Given the description of an element on the screen output the (x, y) to click on. 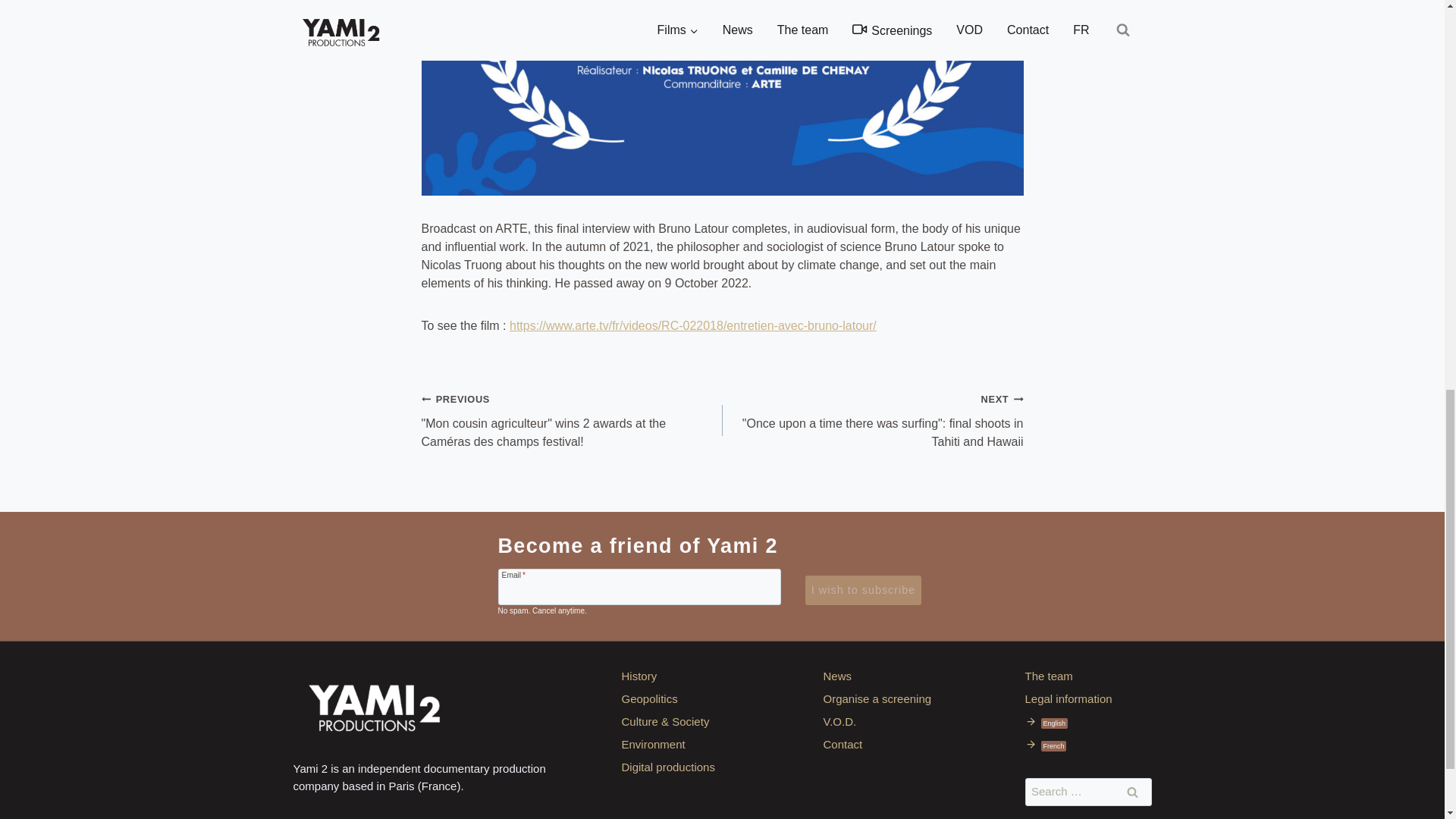
English (1088, 721)
Contact (887, 743)
Digital productions (684, 766)
Environment (684, 743)
Search (1132, 791)
Geopolitics (684, 698)
Search (1132, 791)
Legal information (1088, 698)
The team (1088, 675)
History (684, 675)
